Given the description of an element on the screen output the (x, y) to click on. 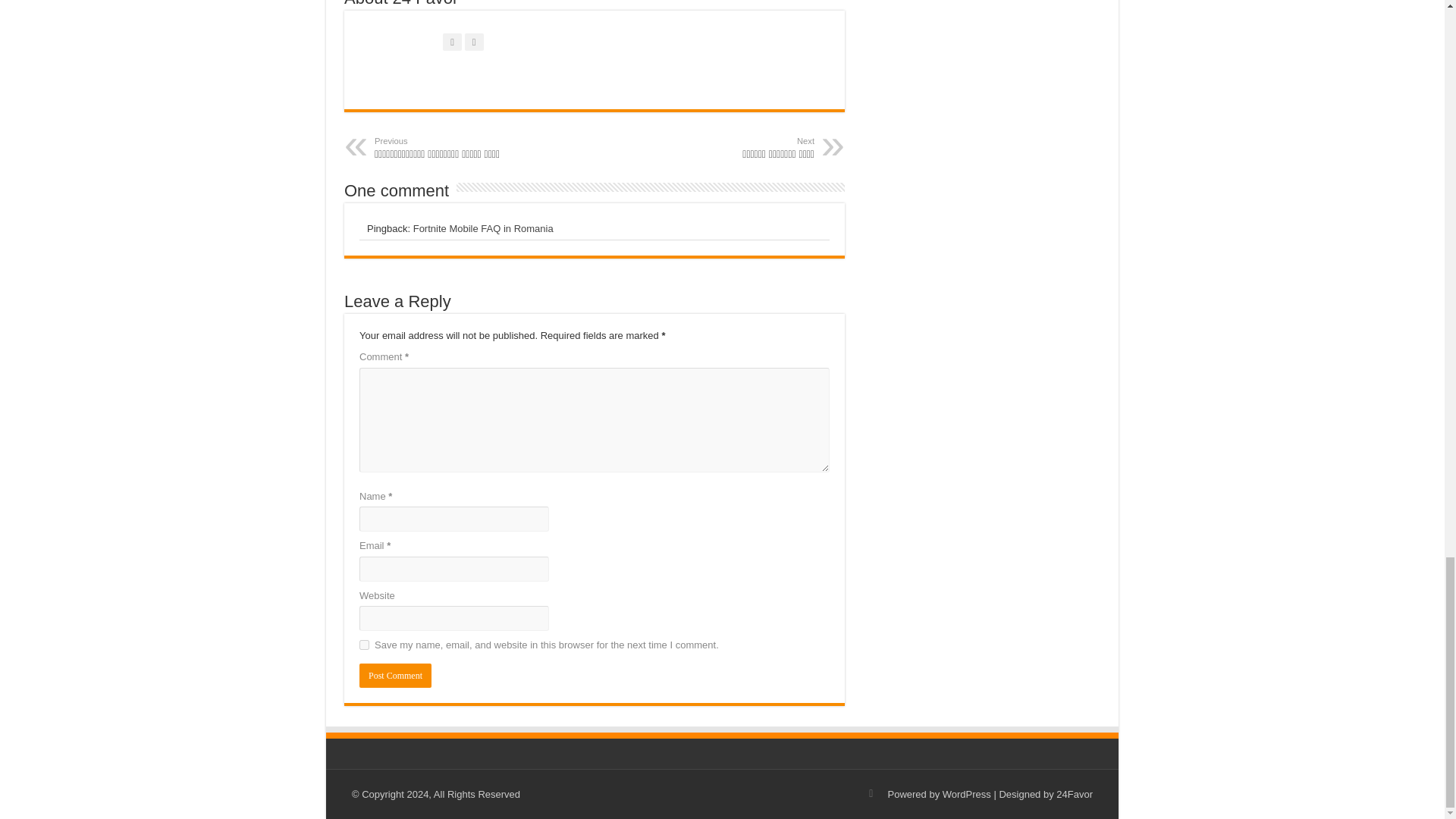
yes (364, 644)
Post Comment (394, 675)
